Given the description of an element on the screen output the (x, y) to click on. 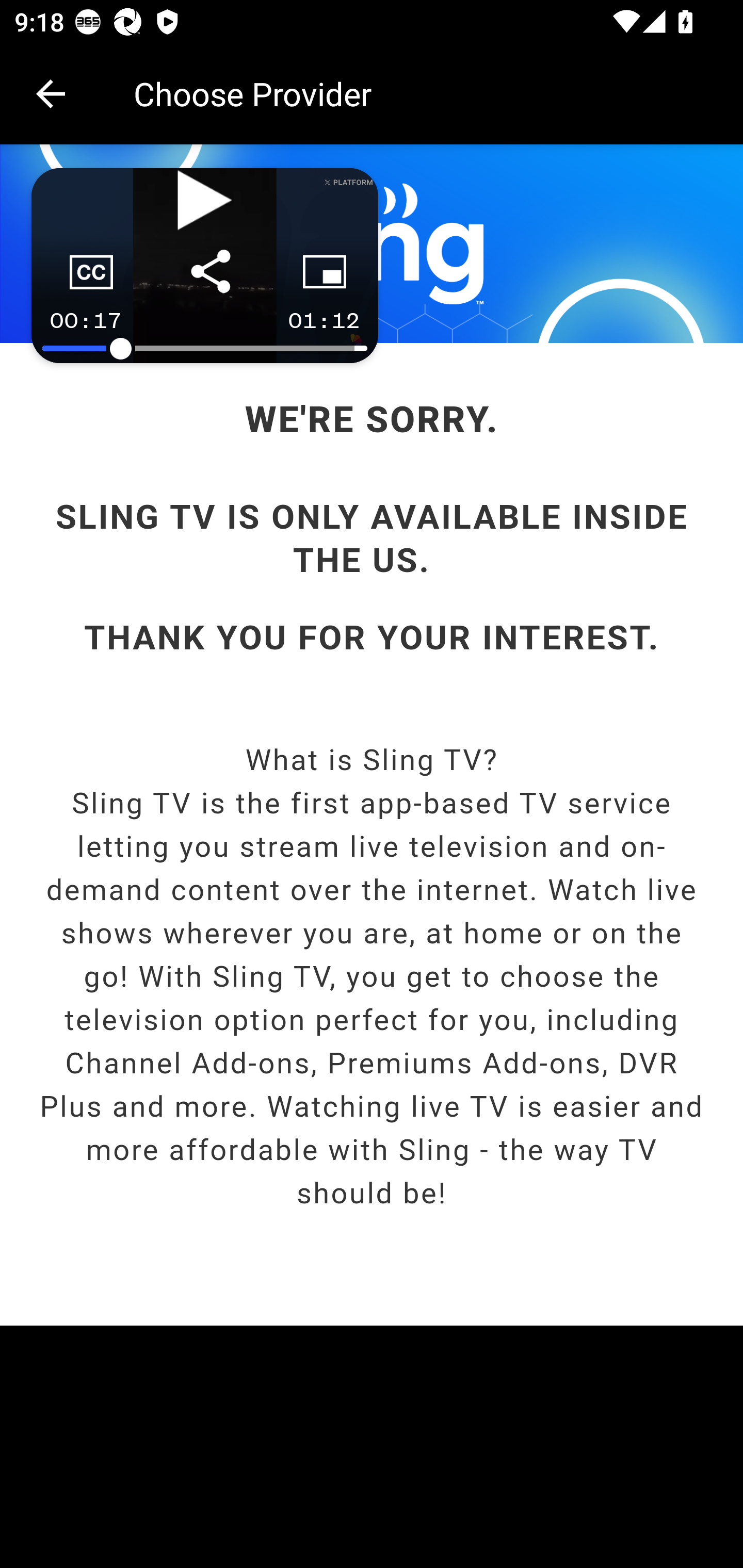
Navigate up (50, 93)
